Given the description of an element on the screen output the (x, y) to click on. 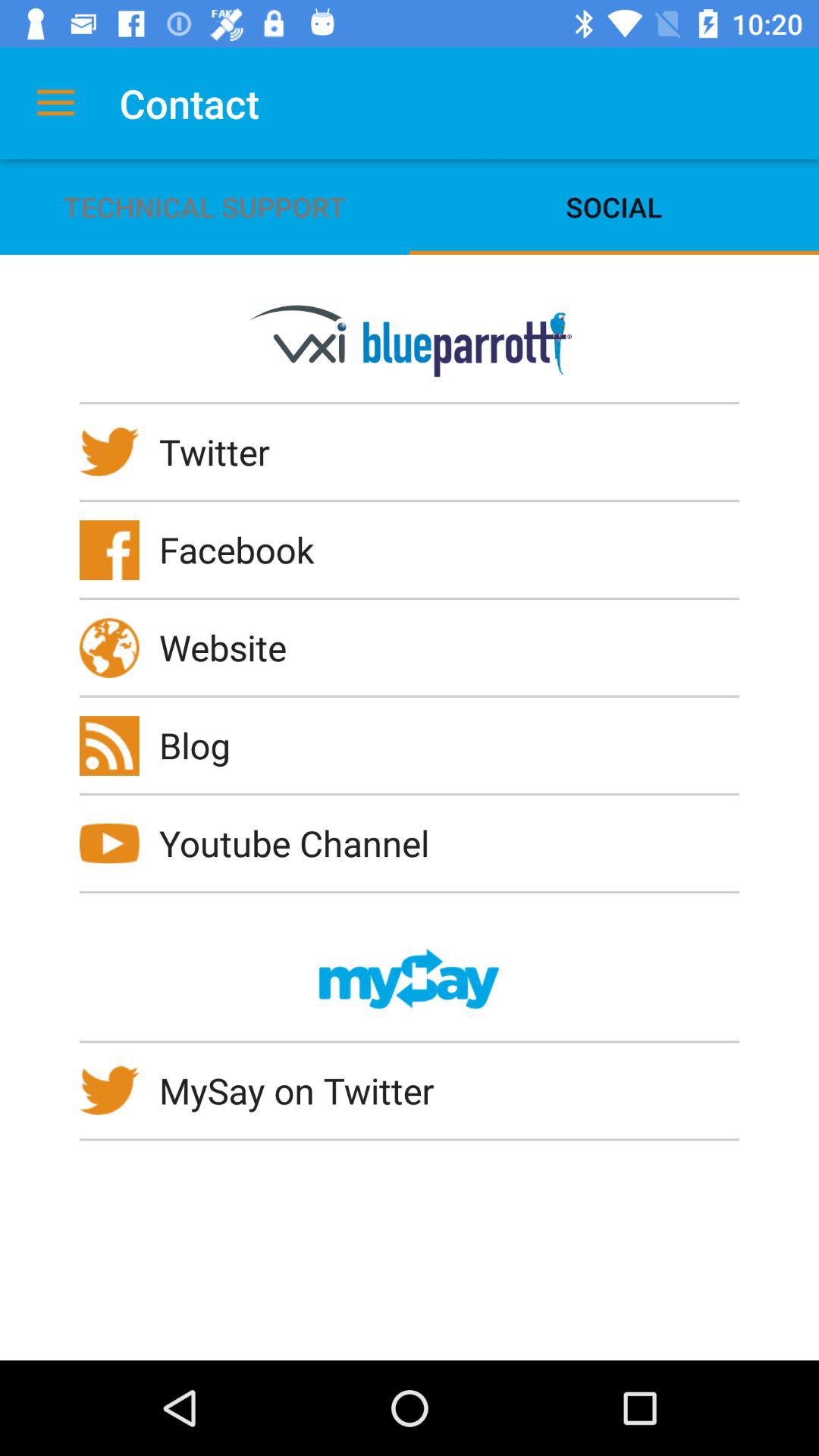
swipe to the youtube channel (304, 843)
